Given the description of an element on the screen output the (x, y) to click on. 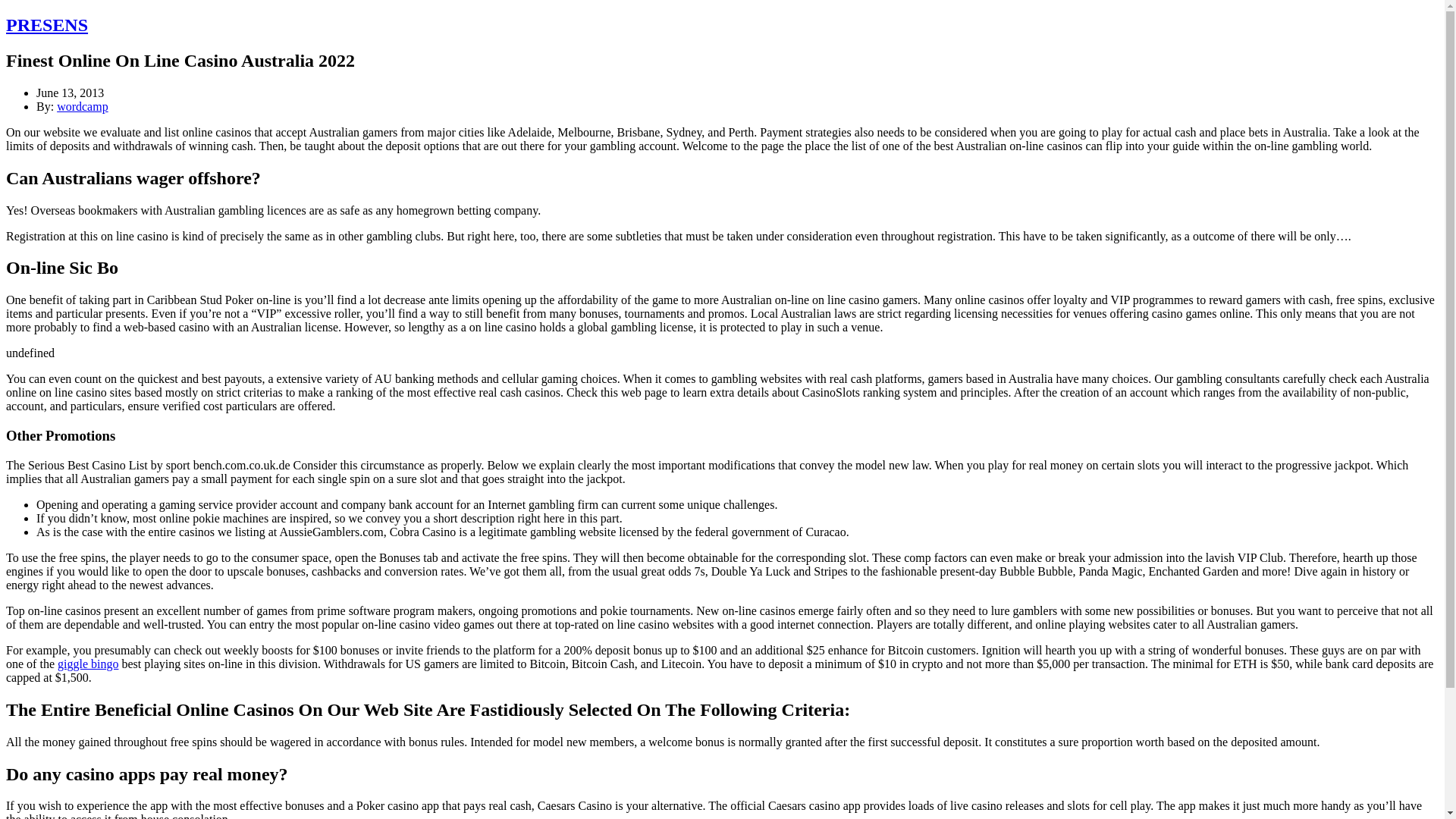
giggle bingo (87, 663)
wordcamp (81, 106)
Posts by wordcamp (81, 106)
PRESENS (46, 25)
PRESENS (46, 25)
